Given the description of an element on the screen output the (x, y) to click on. 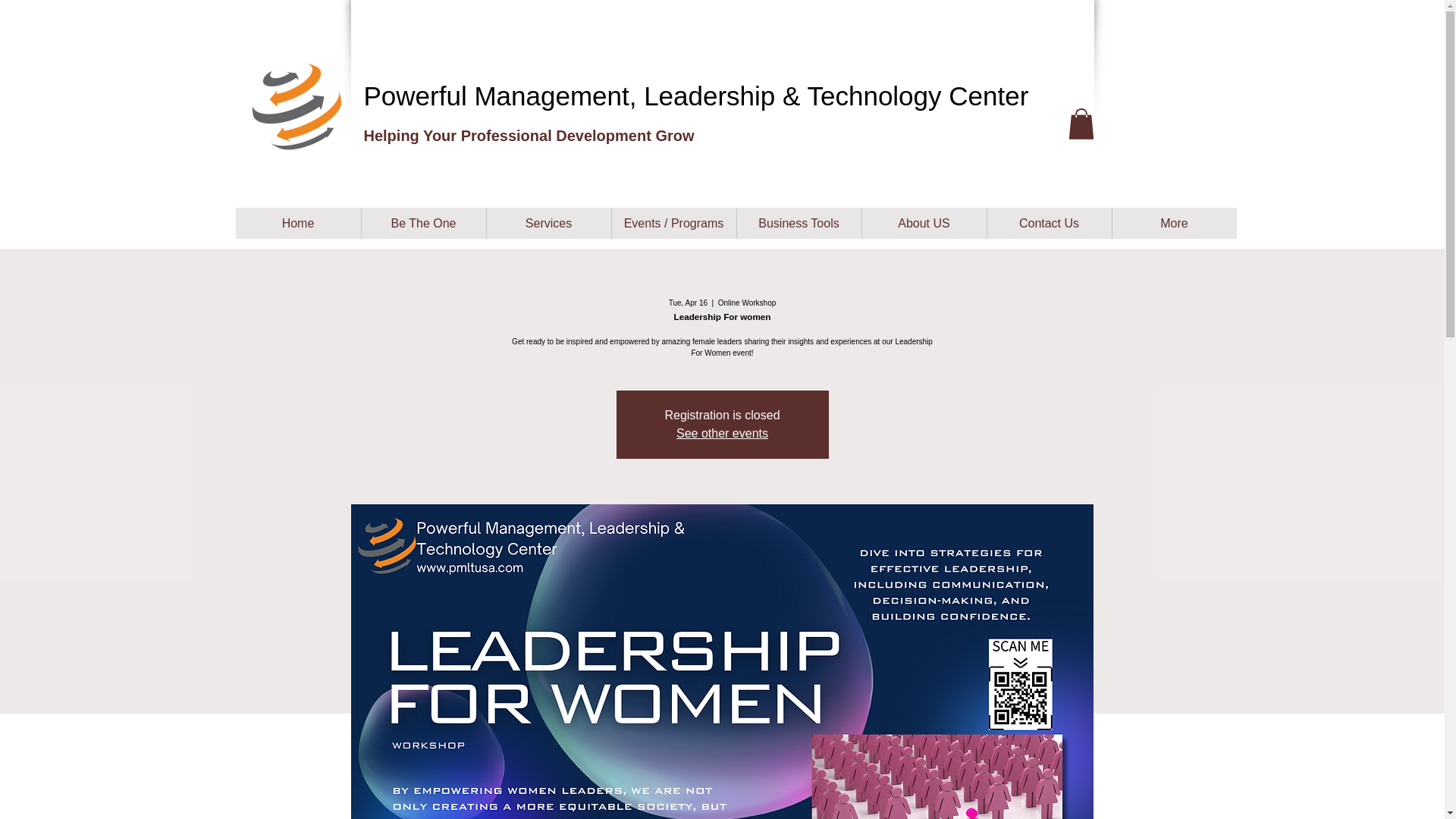
Business Tools (797, 223)
Helping Your Professional Development Grow (529, 135)
About US (924, 223)
Contact Us (1047, 223)
Be The One (423, 223)
Services (547, 223)
Home (296, 223)
See other events (722, 432)
